Given the description of an element on the screen output the (x, y) to click on. 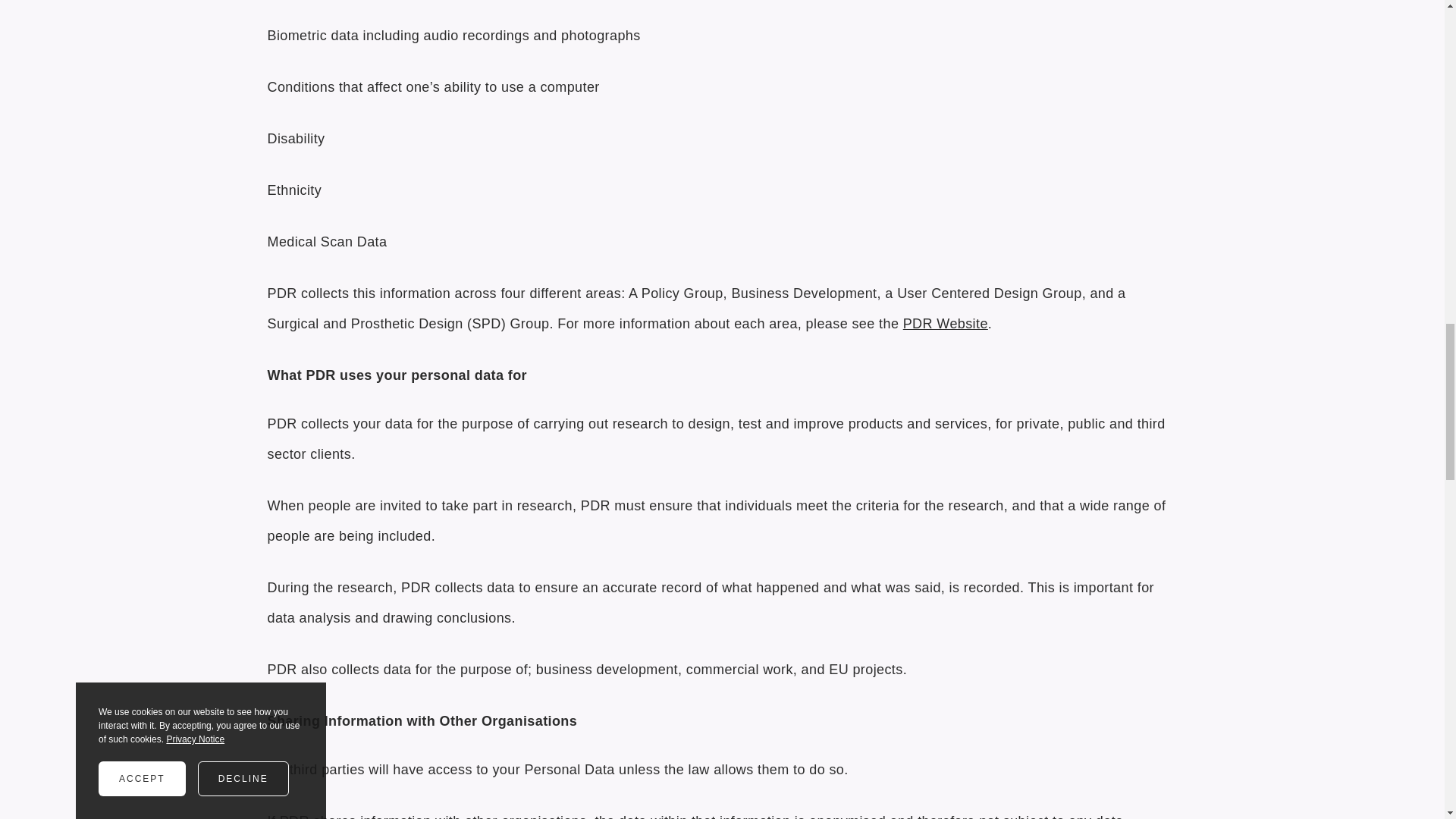
PDR Website (945, 323)
